Given the description of an element on the screen output the (x, y) to click on. 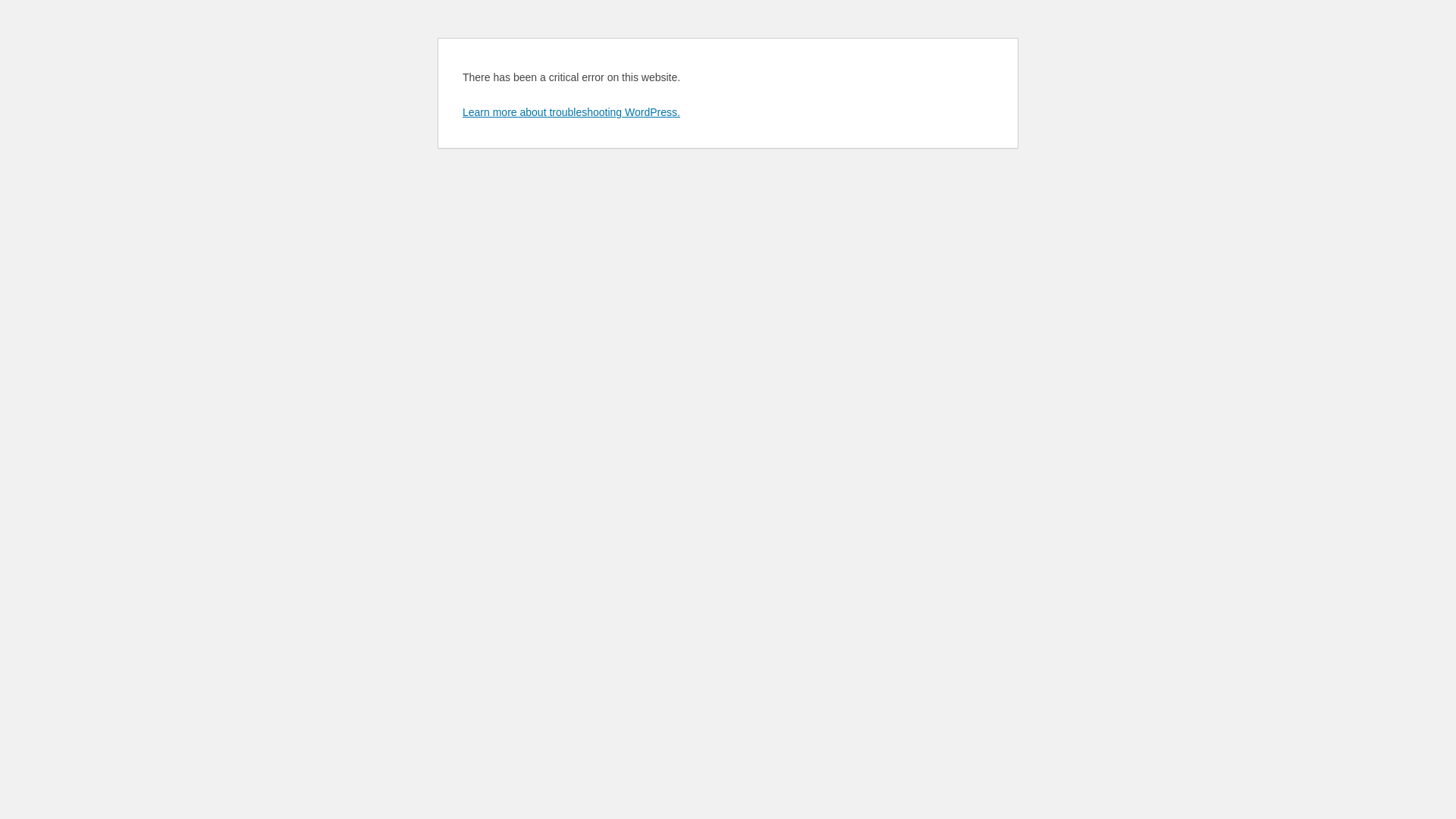
Learn more about troubleshooting WordPress. Element type: text (571, 112)
